Given the description of an element on the screen output the (x, y) to click on. 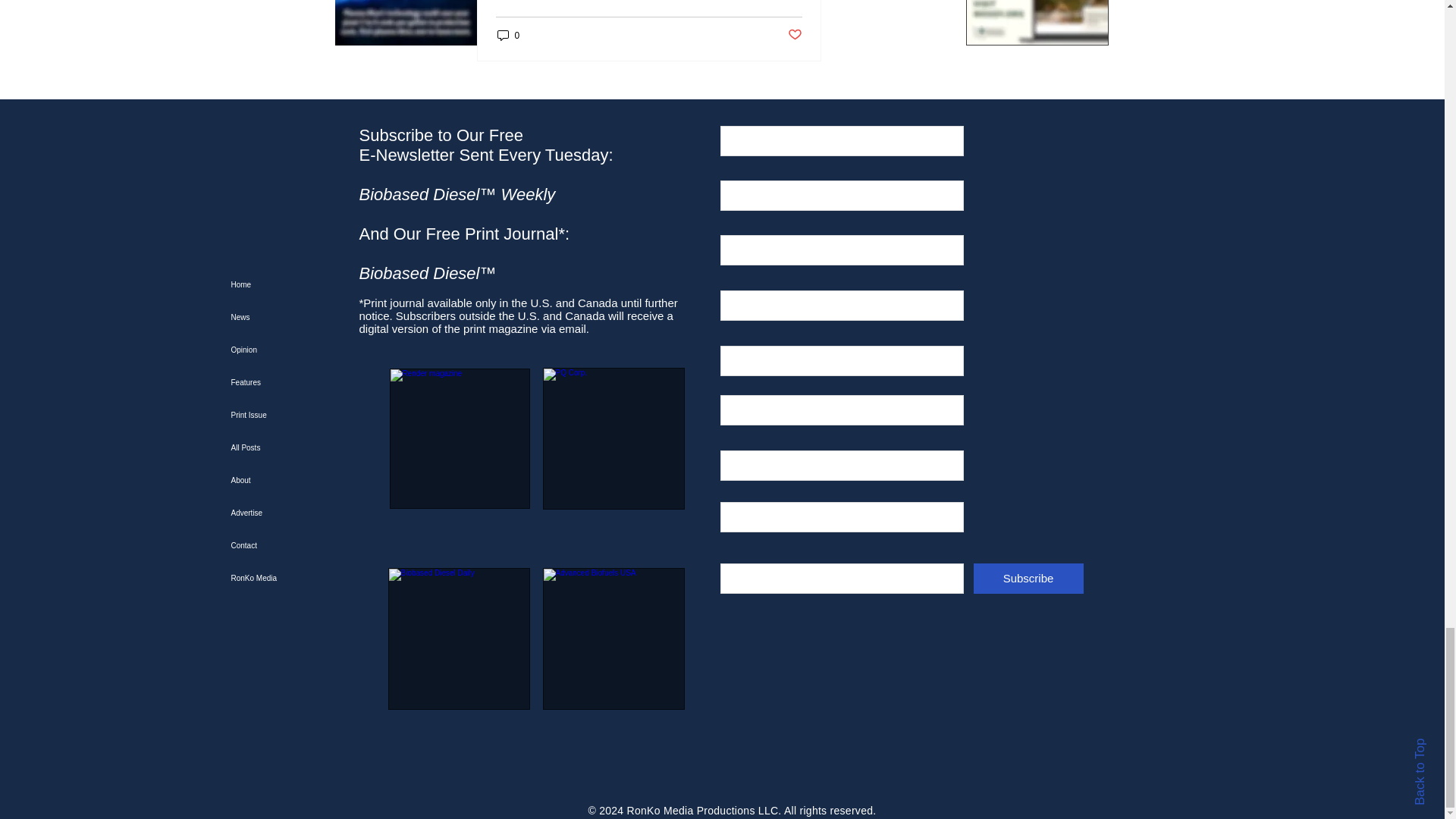
Post not marked as liked (794, 35)
Plasma Blue (405, 22)
0 (508, 34)
